Given the description of an element on the screen output the (x, y) to click on. 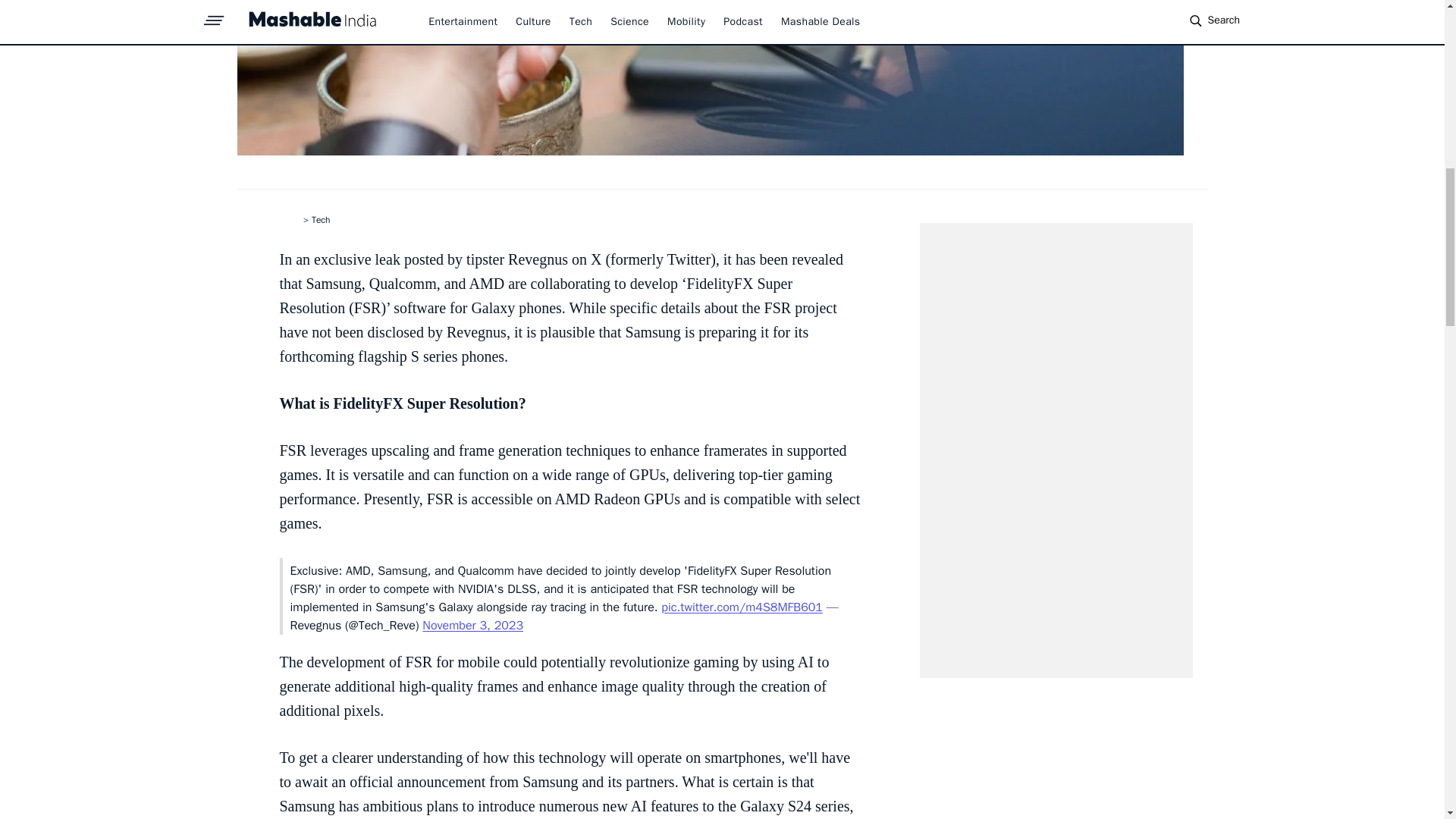
November 3, 2023 (472, 625)
